Given the description of an element on the screen output the (x, y) to click on. 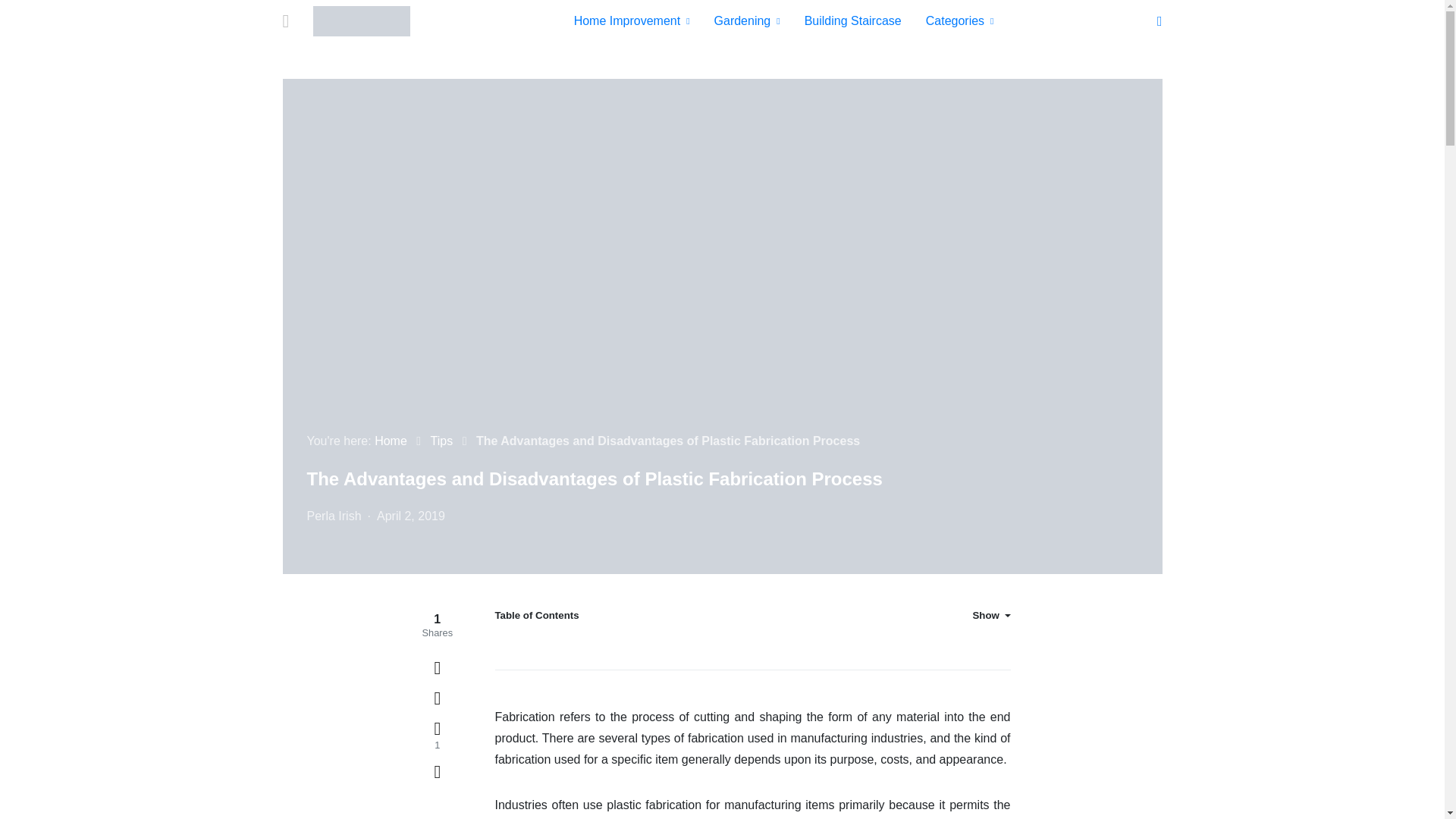
Home Improvement (631, 21)
View all posts by Perla Irish (333, 515)
